Given the description of an element on the screen output the (x, y) to click on. 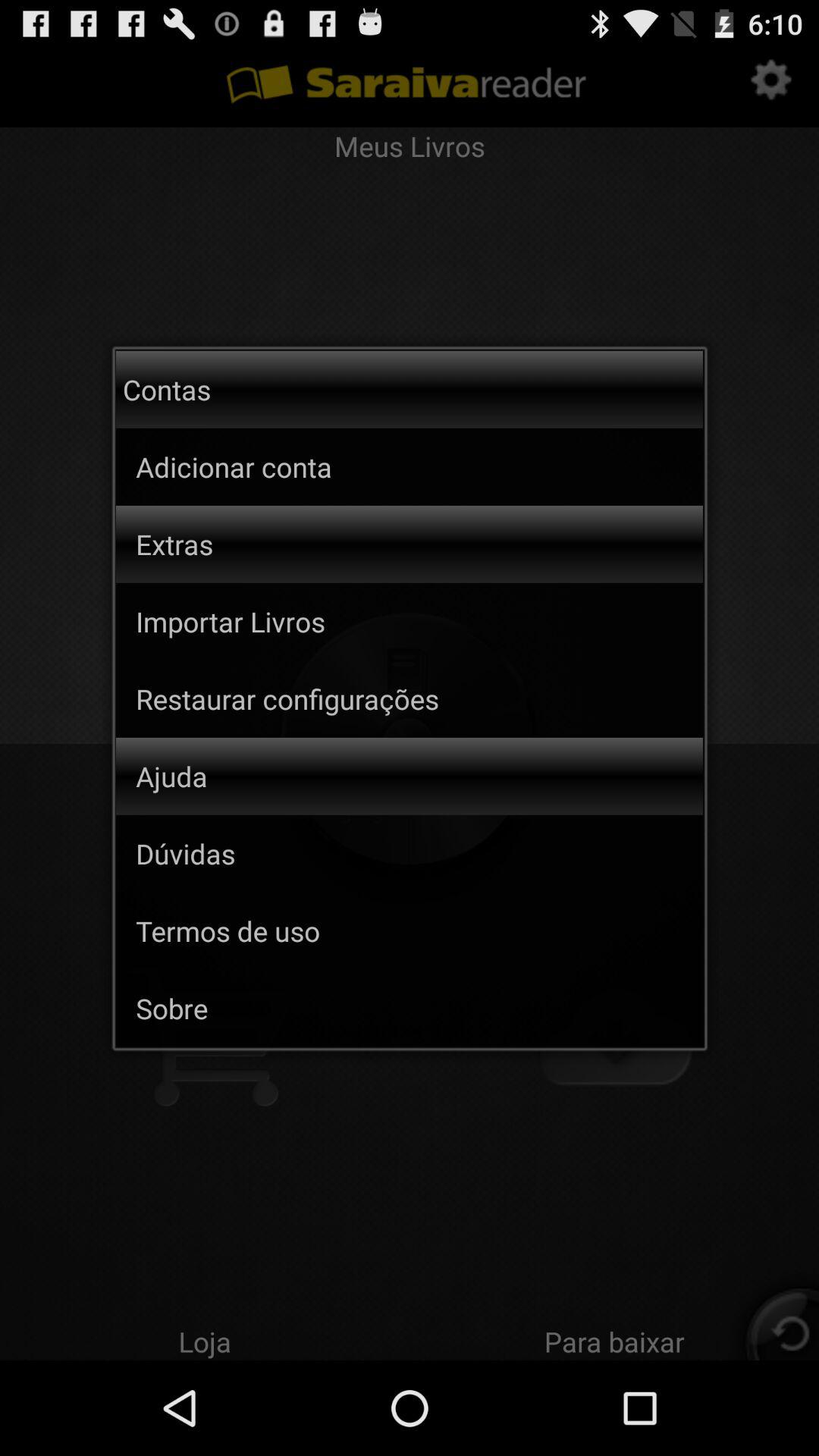
tap the termos de uso icon (418, 930)
